Given the description of an element on the screen output the (x, y) to click on. 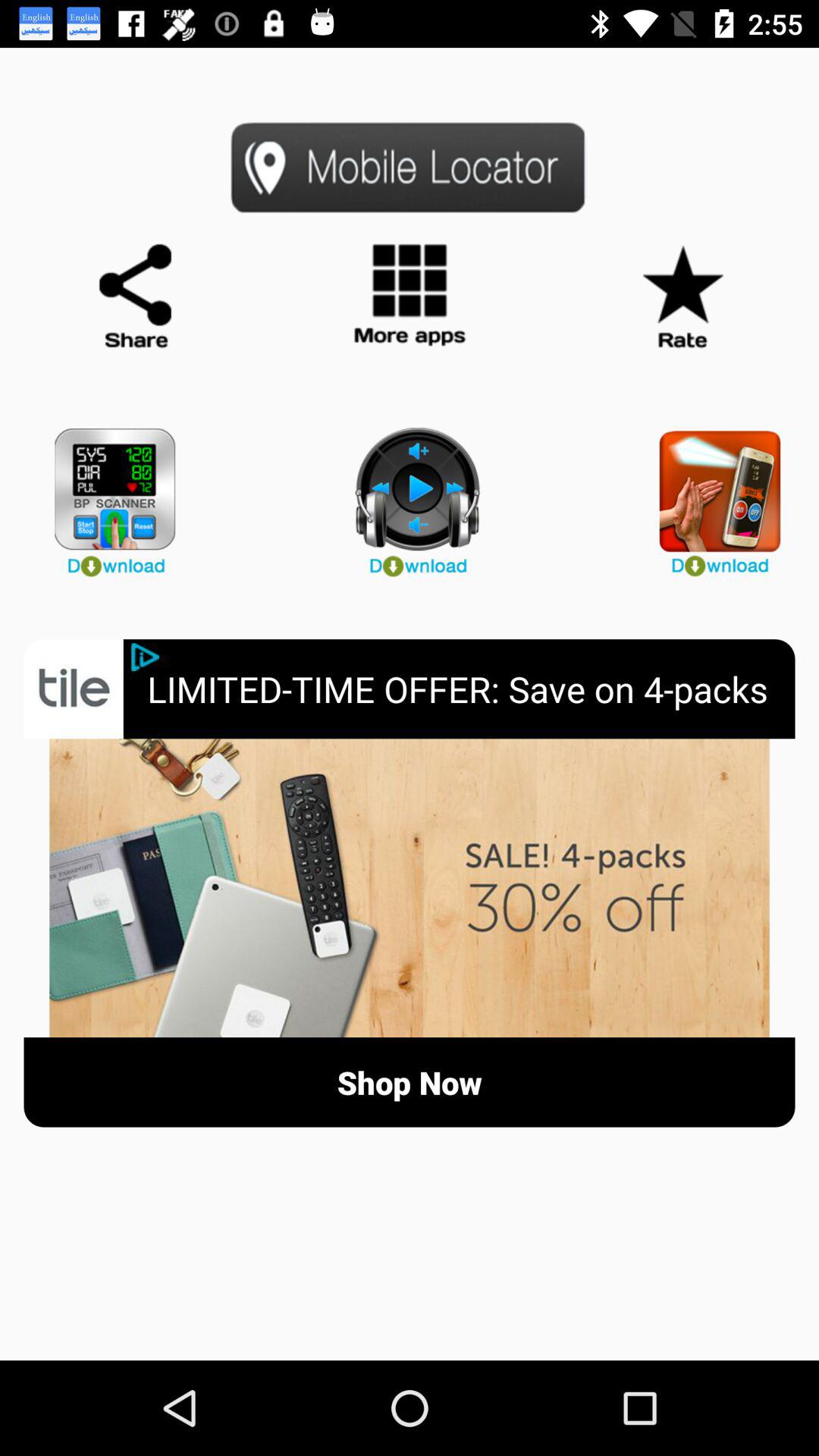
scroll to limited time offer icon (471, 688)
